Given the description of an element on the screen output the (x, y) to click on. 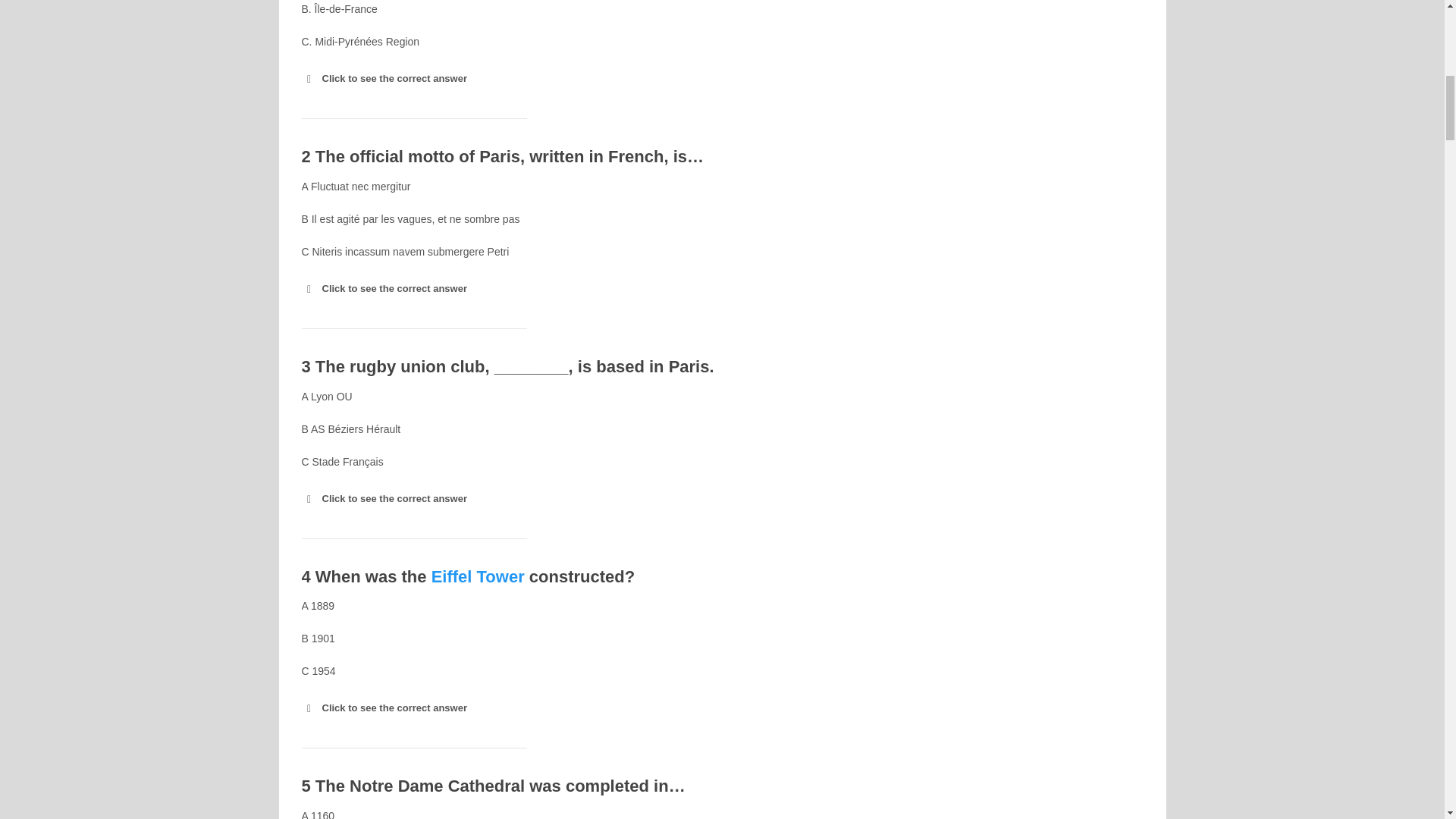
Eiffel Tower (477, 576)
